Given the description of an element on the screen output the (x, y) to click on. 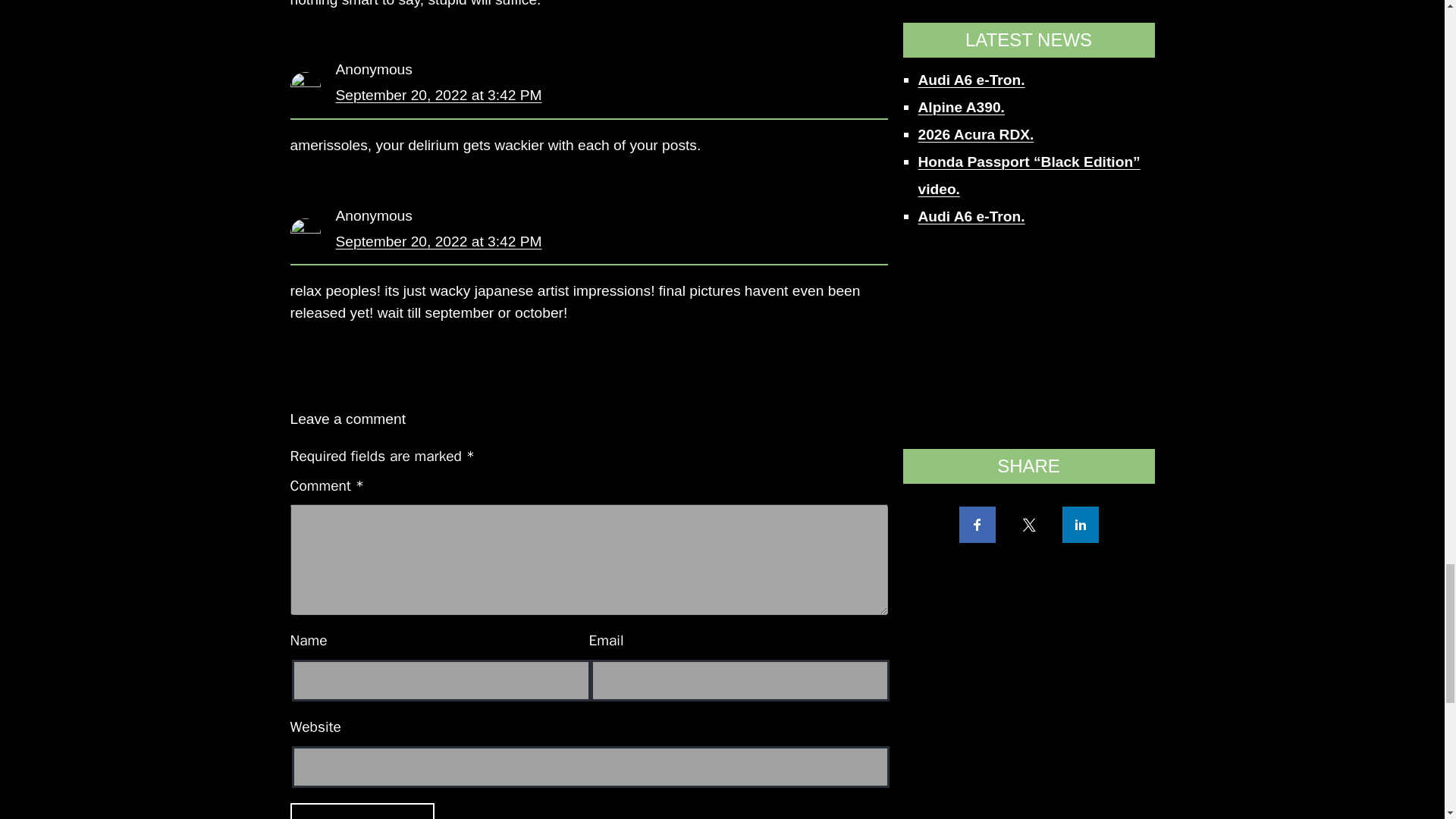
September 20, 2022 at 3:42 PM (437, 241)
Post Comment (361, 811)
Post Comment (361, 811)
September 20, 2022 at 3:42 PM (437, 94)
